Given the description of an element on the screen output the (x, y) to click on. 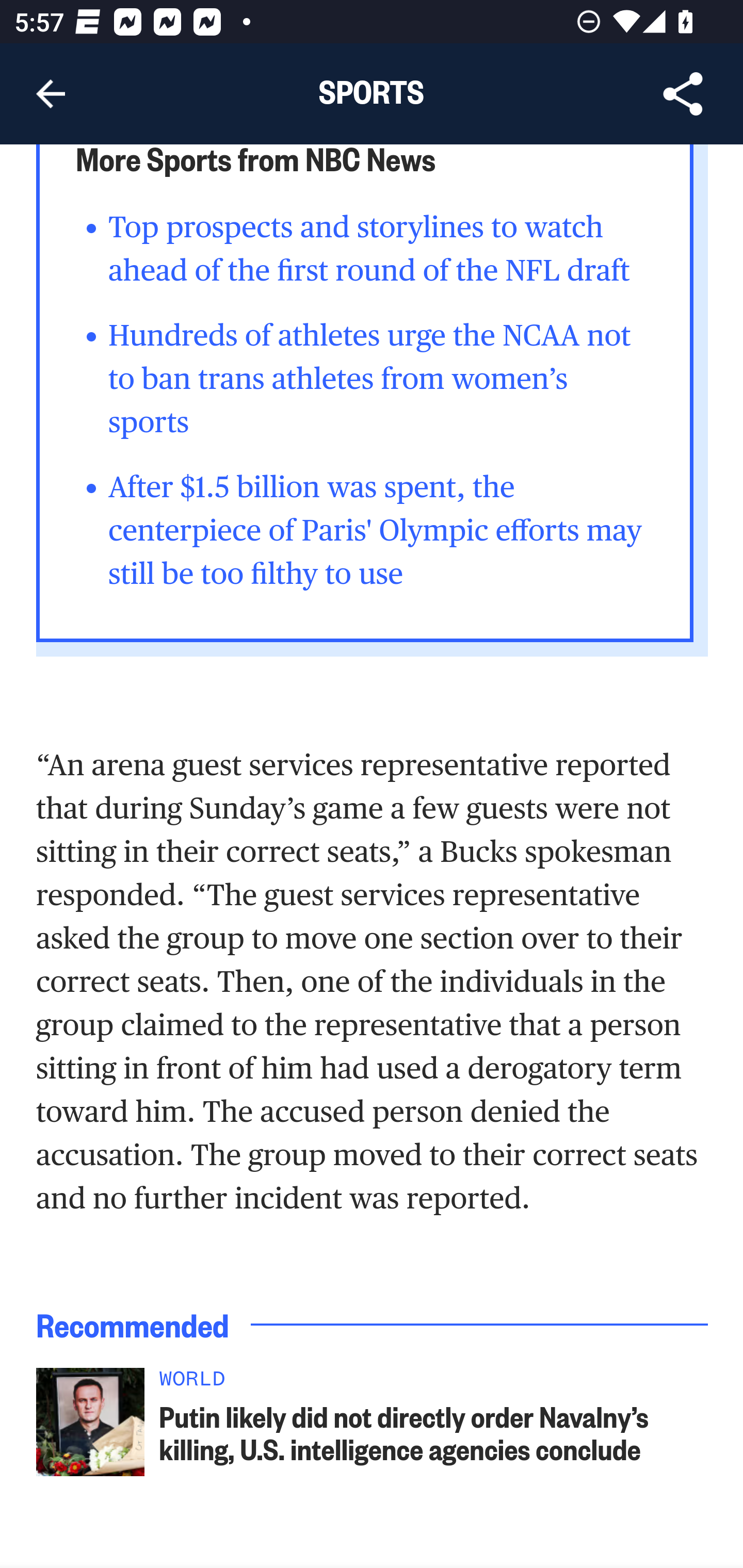
Navigate up (50, 93)
Share Article, button (683, 94)
WORLD (434, 1383)
